Given the description of an element on the screen output the (x, y) to click on. 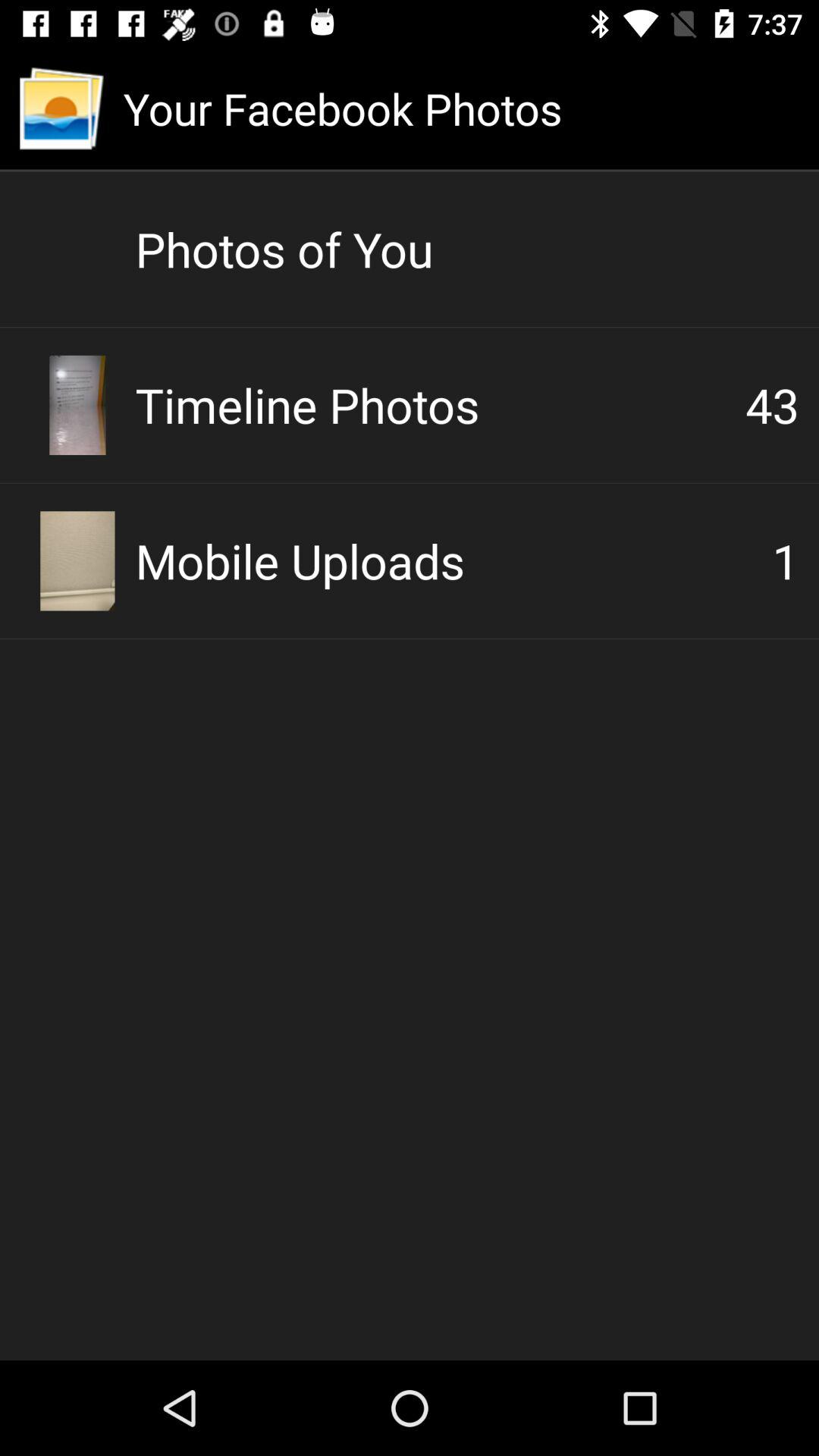
turn off timeline photos icon (440, 404)
